Given the description of an element on the screen output the (x, y) to click on. 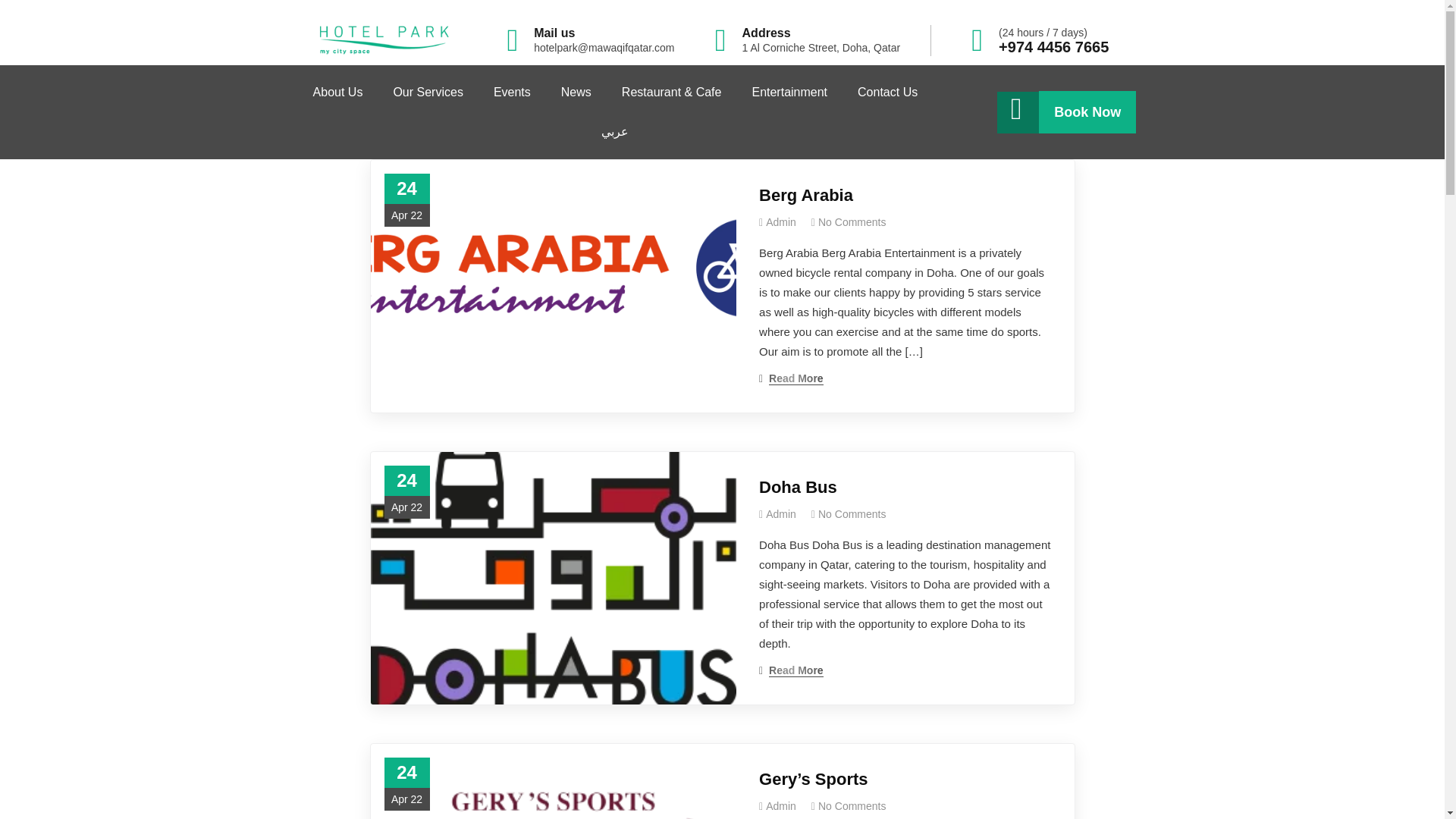
Our Services (427, 92)
Admin (780, 806)
Admin (780, 222)
Posts by admin (780, 222)
Contact Us (888, 92)
News (576, 92)
Posts by admin (780, 513)
Read More (791, 378)
No Comments (851, 222)
Entertainment (789, 92)
